Given the description of an element on the screen output the (x, y) to click on. 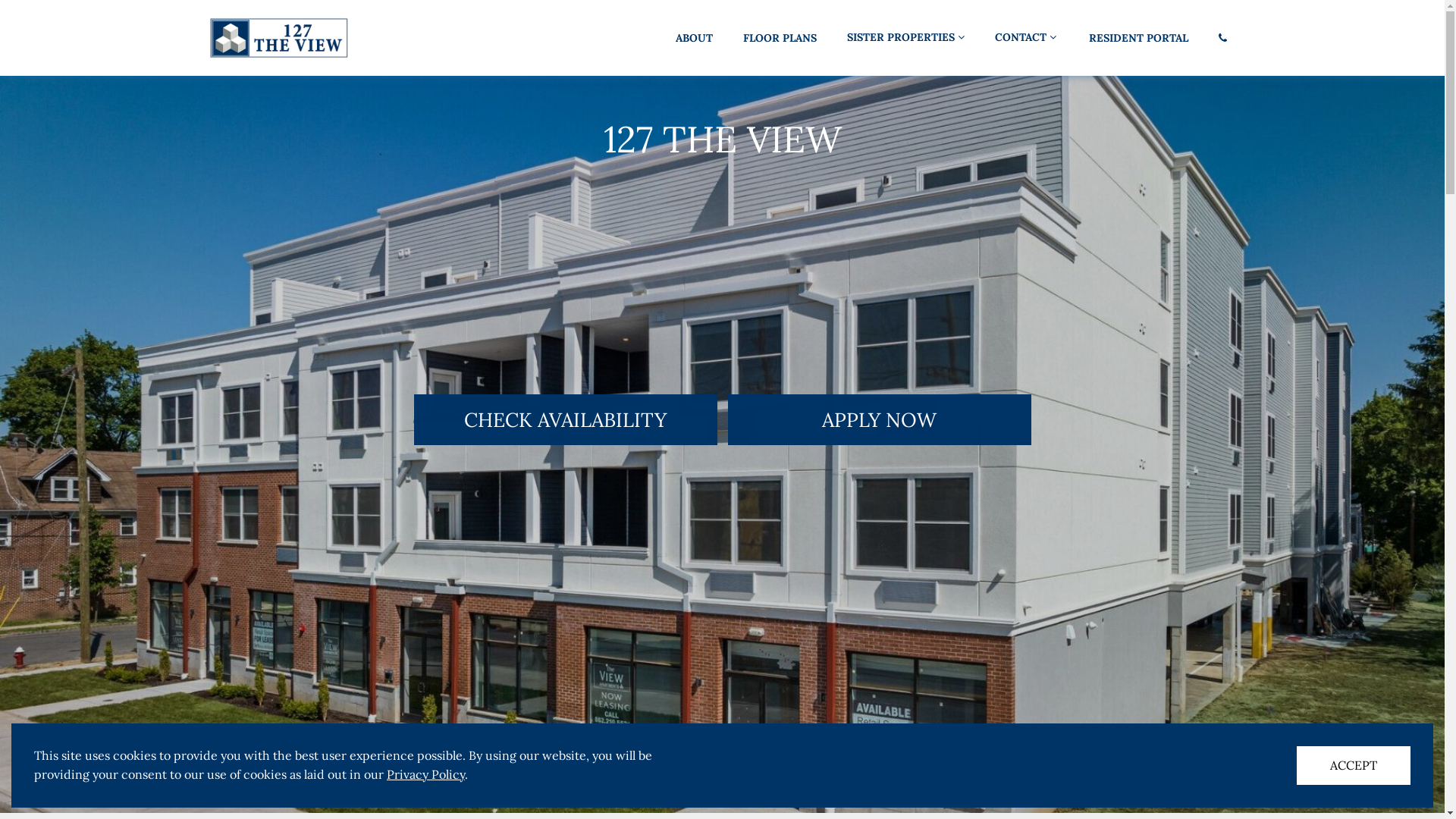
RESIDENT PORTAL Element type: text (1138, 37)
SISTER PROPERTIES Element type: text (905, 37)
APPLY NOW Element type: text (879, 419)
CONTACT Element type: text (1025, 37)
ABOUT Element type: text (693, 37)
CHECK AVAILABILITY Element type: text (565, 419)
ACCEPT Element type: text (1353, 765)
FLOOR PLANS Element type: text (779, 37)
Privacy Policy Element type: text (425, 773)
